Given the description of an element on the screen output the (x, y) to click on. 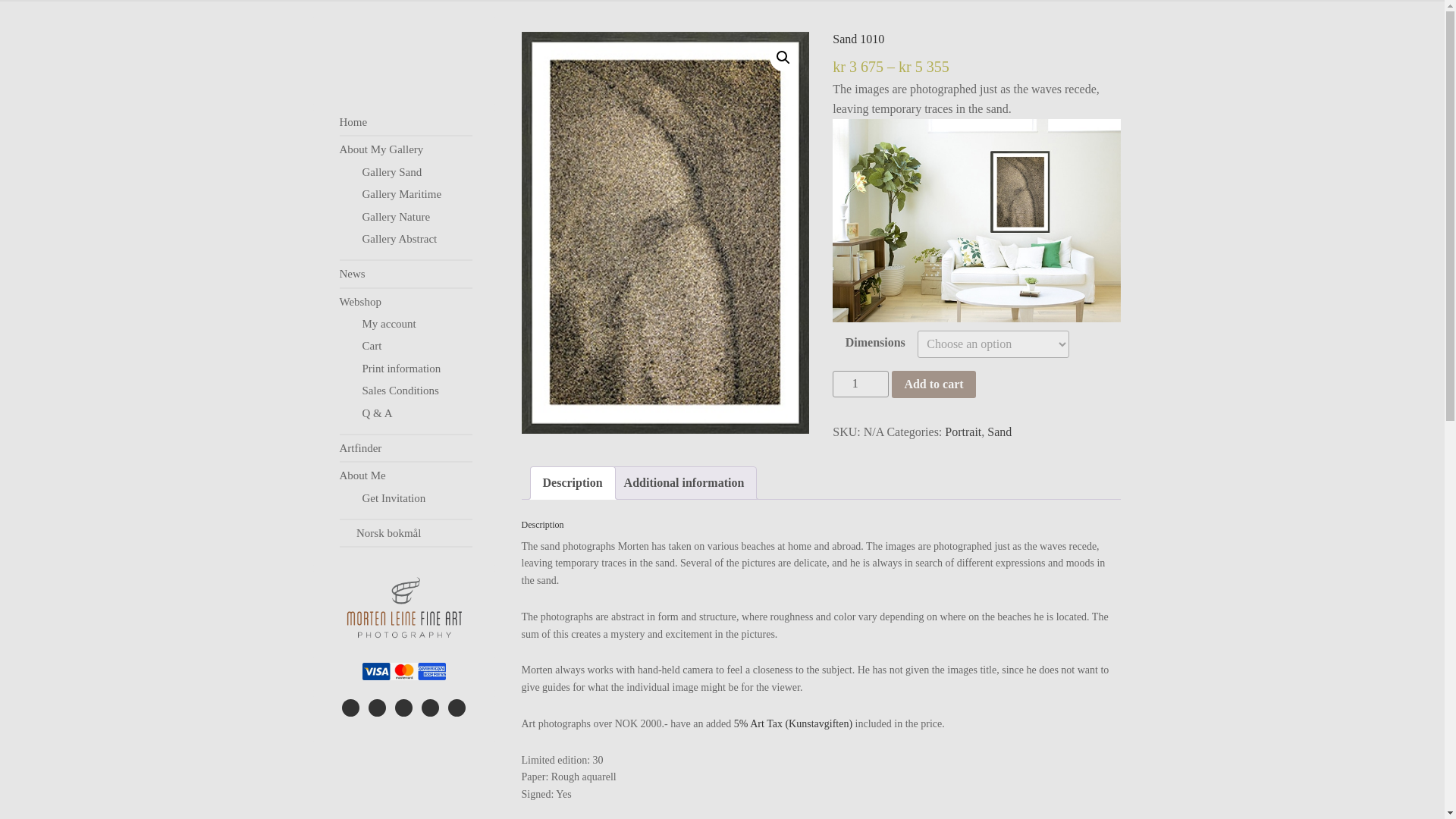
1 (860, 384)
Description (572, 482)
Add to cart (933, 384)
Portrait (962, 431)
Additional information (684, 482)
About My Gallery (381, 149)
Sand (999, 431)
Home (353, 121)
